Given the description of an element on the screen output the (x, y) to click on. 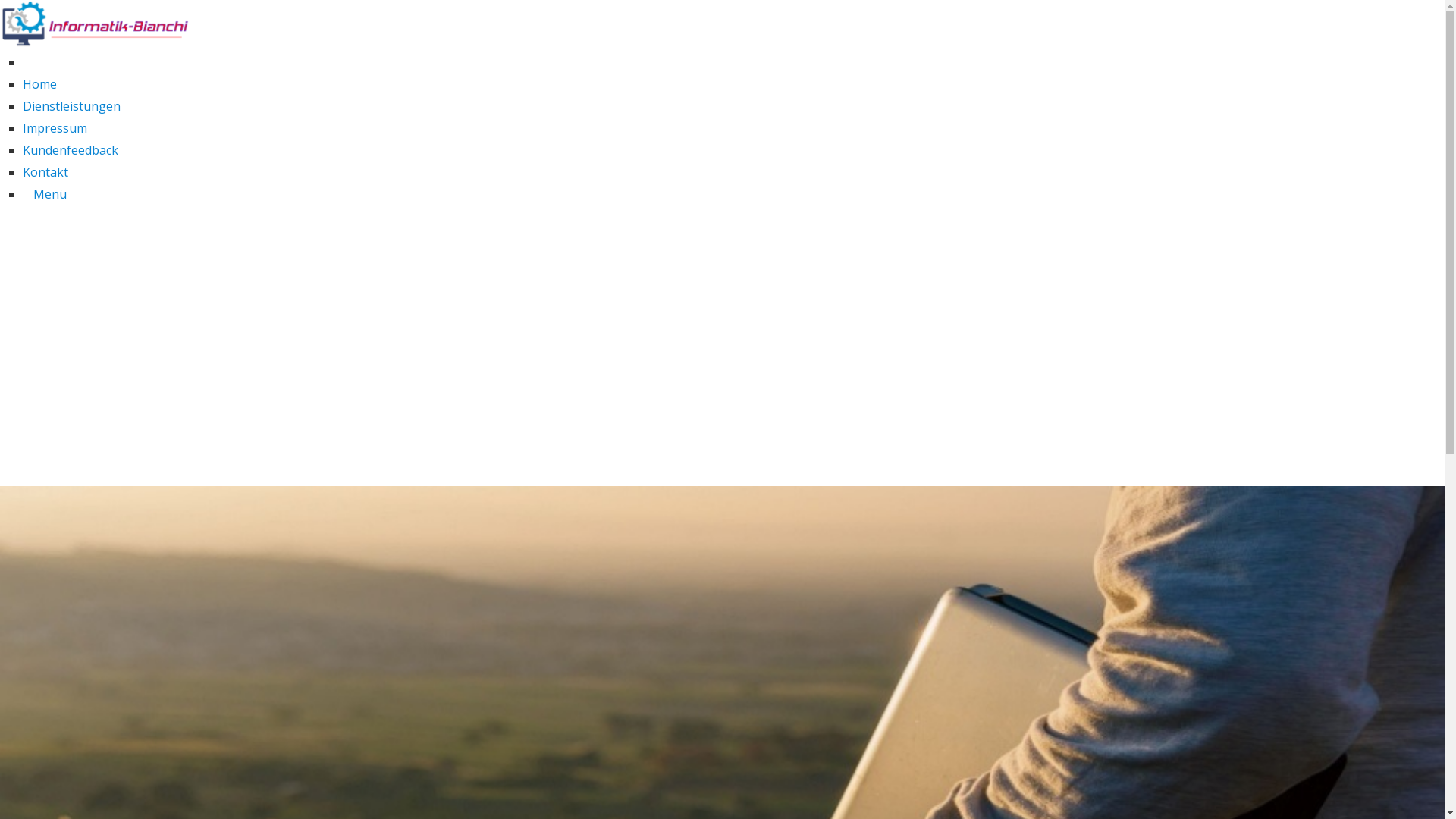
Dienstleistungen Element type: text (71, 105)
Home Element type: text (39, 83)
Kundenfeedback Element type: text (70, 149)
Impressum Element type: text (54, 127)
Kontakt Element type: text (45, 171)
